Given the description of an element on the screen output the (x, y) to click on. 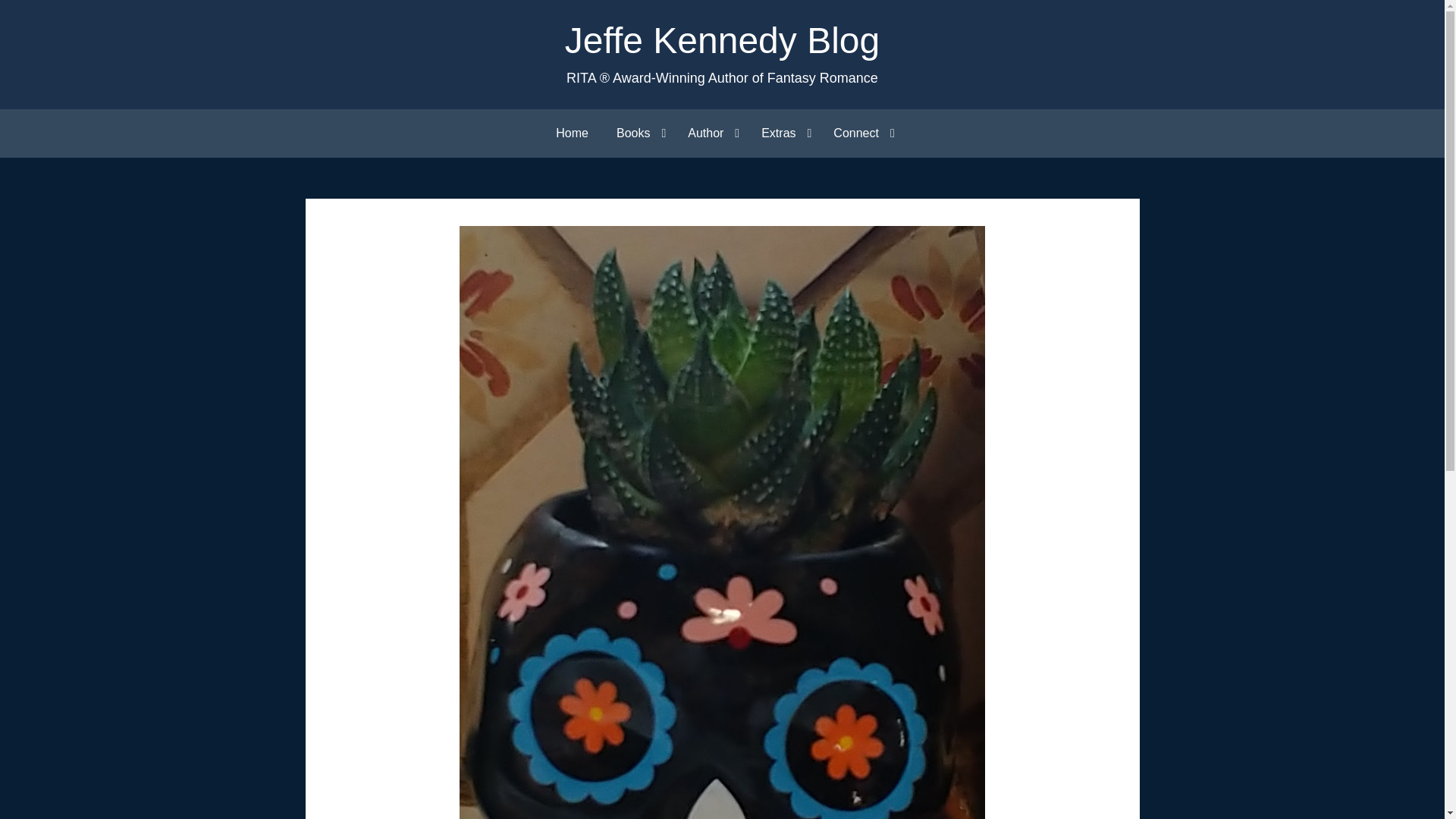
Connect (860, 133)
Books (637, 133)
Home (571, 133)
Extras (782, 133)
Author (710, 133)
Jeffe Kennedy Blog (721, 40)
